Given the description of an element on the screen output the (x, y) to click on. 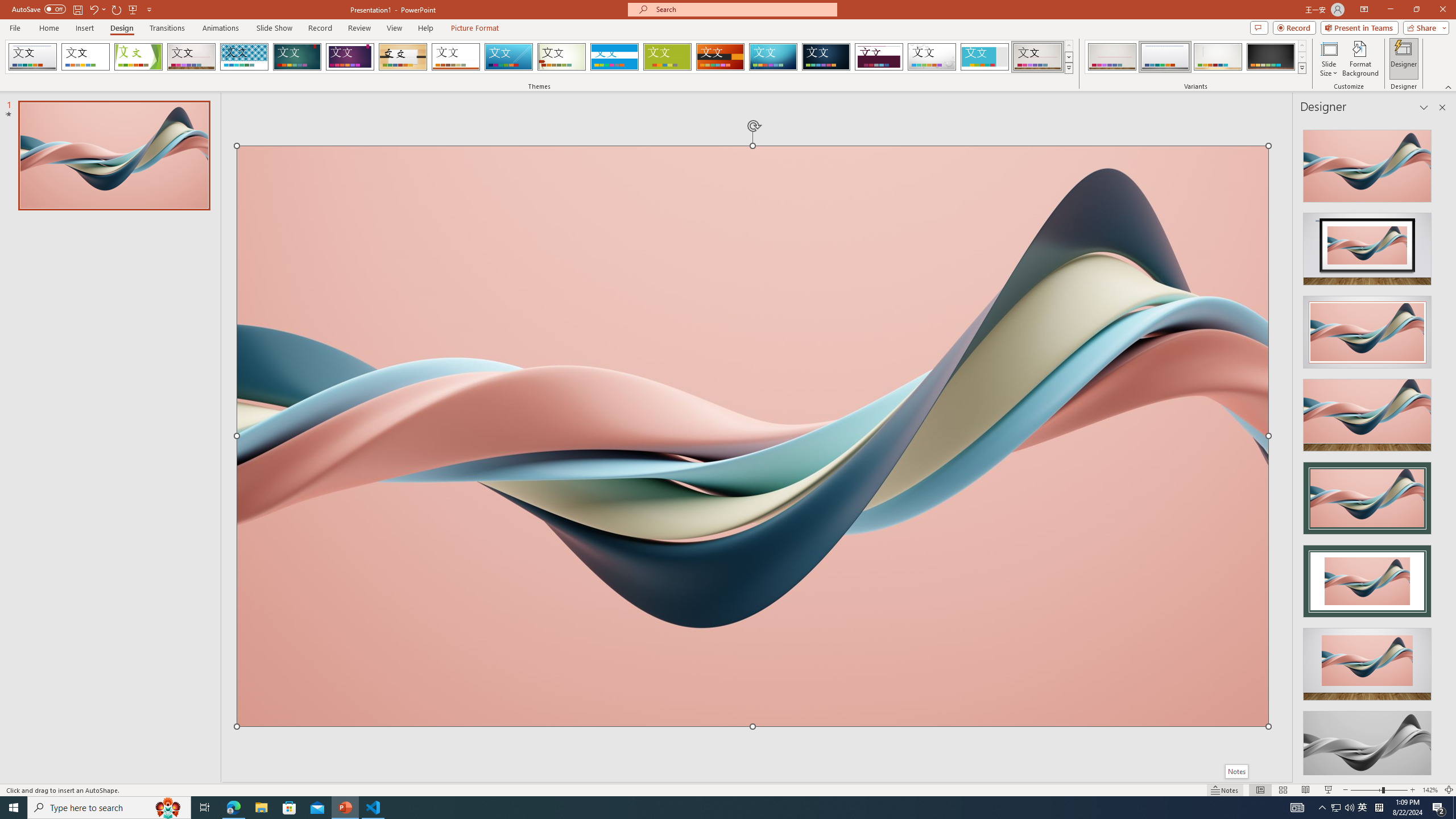
Circuit (772, 56)
Organic (403, 56)
Banded (614, 56)
Berlin (720, 56)
Gallery Variant 4 (1270, 56)
Recommended Design: Design Idea (1366, 162)
